Given the description of an element on the screen output the (x, y) to click on. 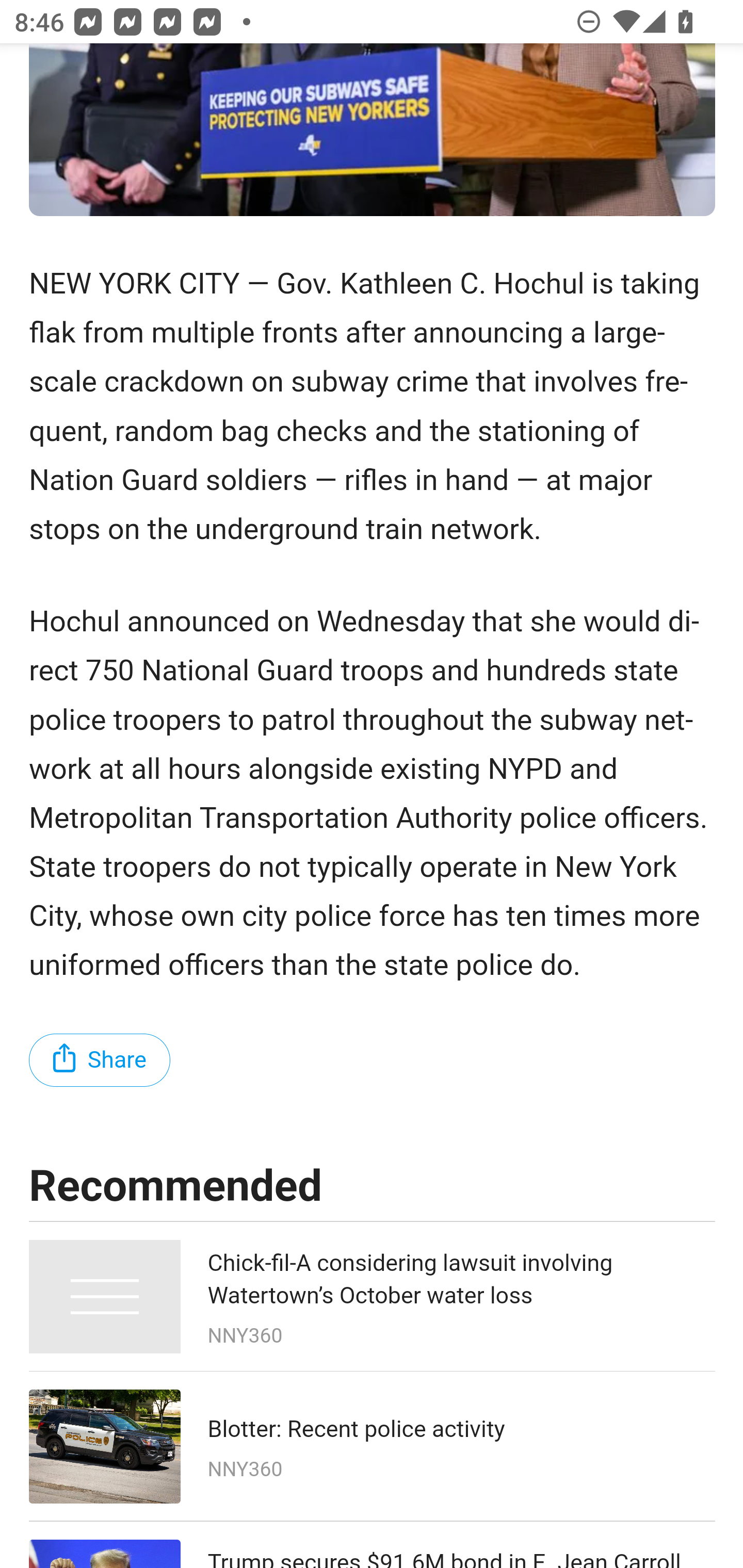
Share (99, 1060)
